Given the description of an element on the screen output the (x, y) to click on. 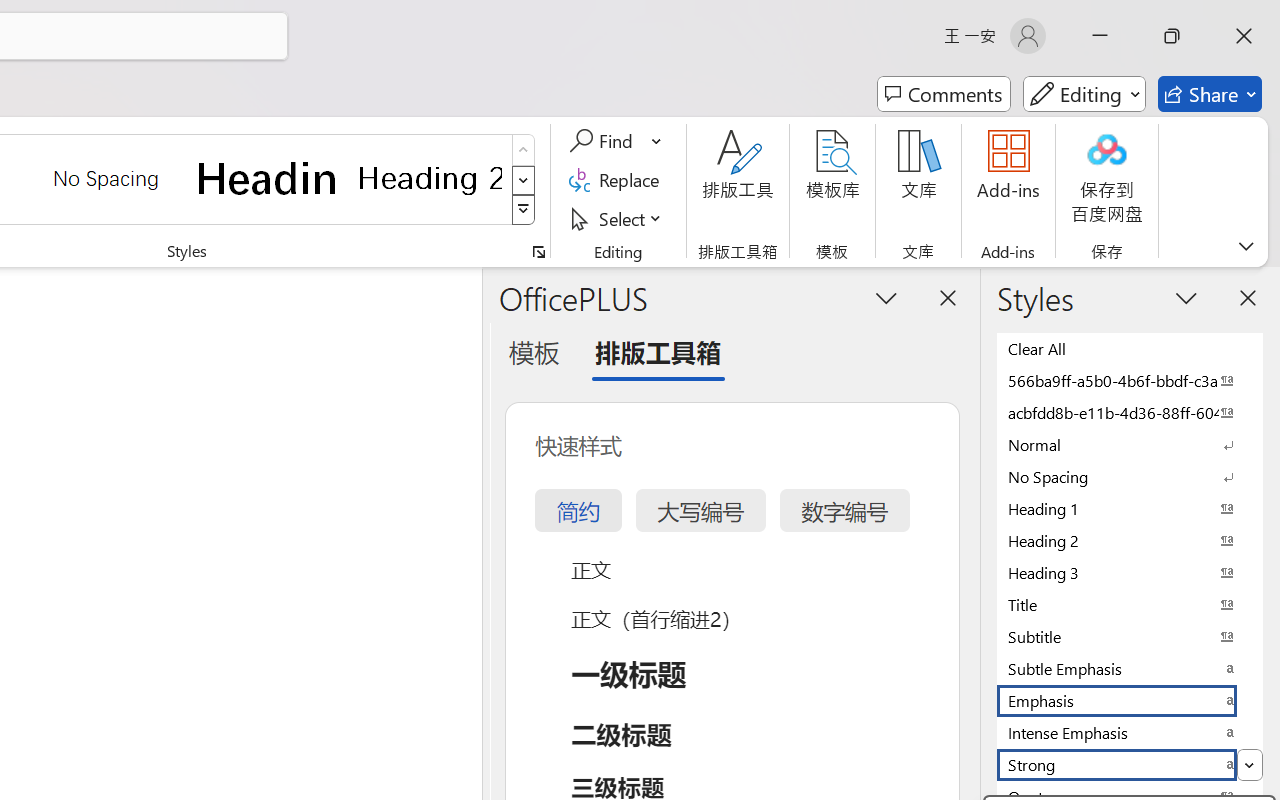
Share (1210, 94)
Select (618, 218)
Find (604, 141)
acbfdd8b-e11b-4d36-88ff-6049b138f862 (1130, 412)
Subtle Emphasis (1130, 668)
No Spacing (1130, 476)
Ribbon Display Options (1246, 245)
Heading 2 (429, 178)
Minimize (1099, 36)
